Given the description of an element on the screen output the (x, y) to click on. 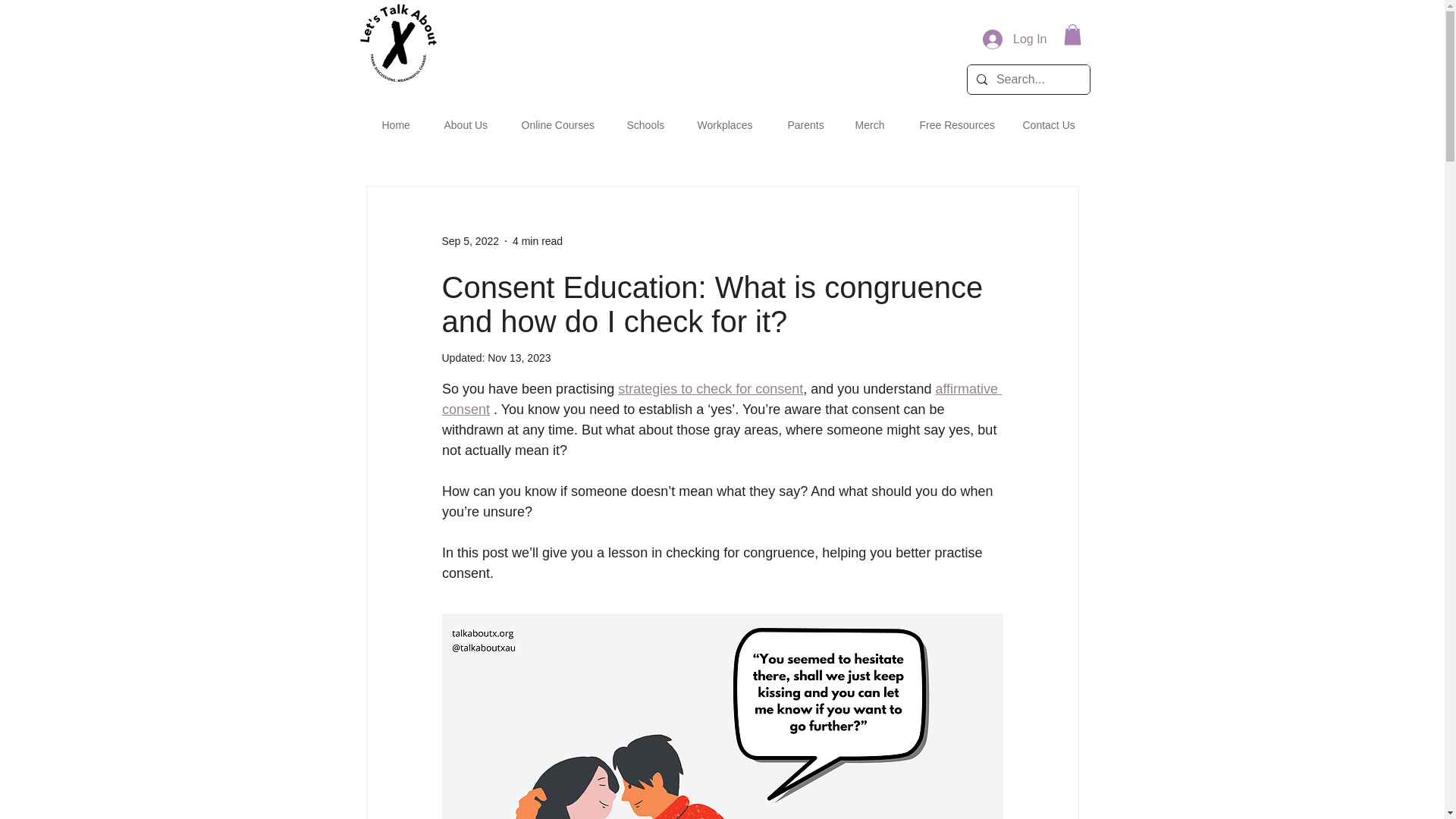
Sep 5, 2022 (470, 241)
Contact Us (1048, 118)
Parents (804, 118)
Workplaces (724, 118)
About Us (464, 118)
Schools (644, 118)
Merch (869, 118)
4 min read (537, 241)
Nov 13, 2023 (518, 357)
affirmative consent (721, 398)
